Given the description of an element on the screen output the (x, y) to click on. 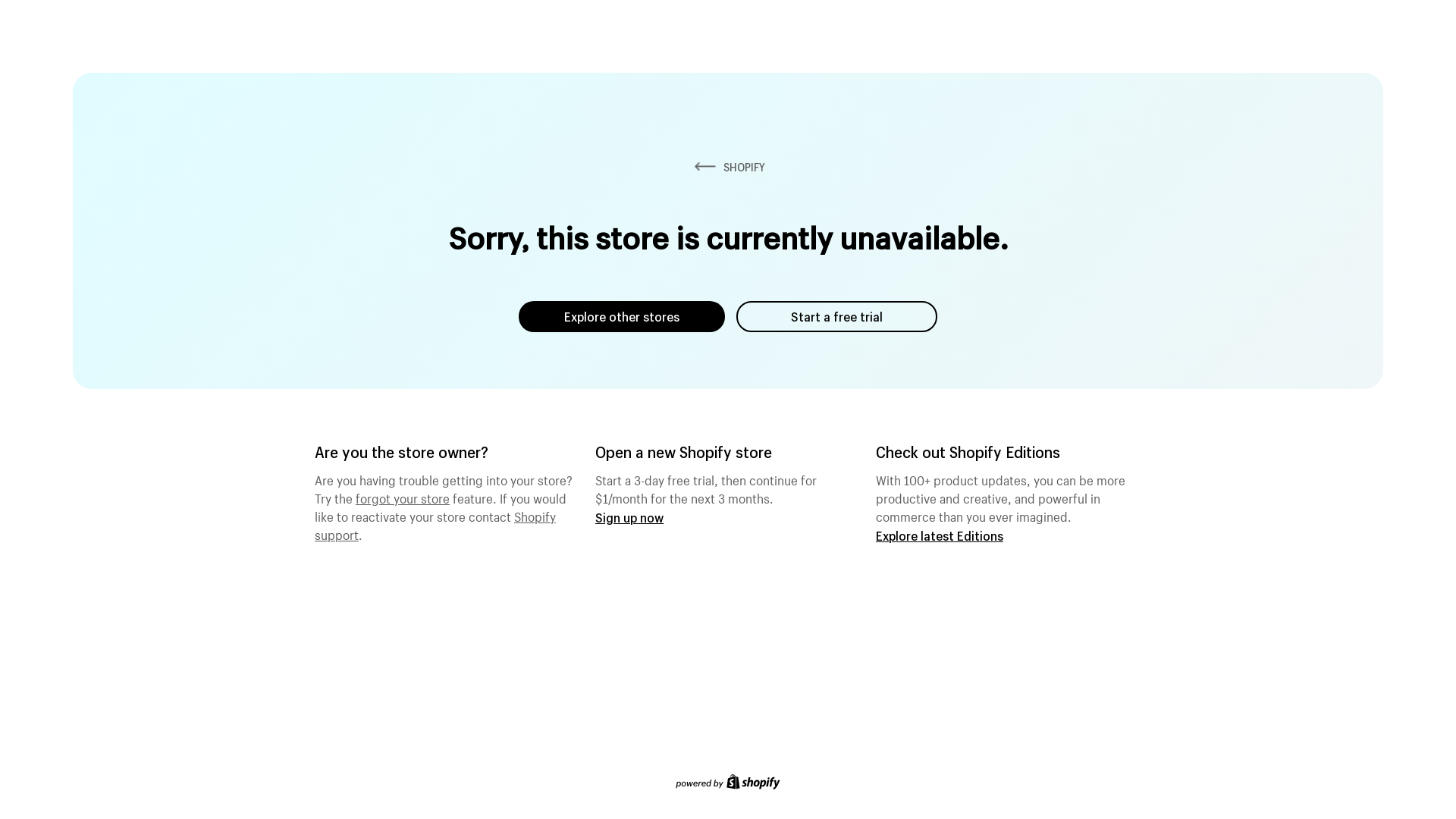
Explore other stores Element type: text (621, 316)
Sign up now Element type: text (629, 517)
SHOPIFY Element type: text (727, 167)
forgot your store Element type: text (402, 496)
Shopify support Element type: text (434, 523)
Explore latest Editions Element type: text (939, 535)
Start a free trial Element type: text (836, 316)
